Given the description of an element on the screen output the (x, y) to click on. 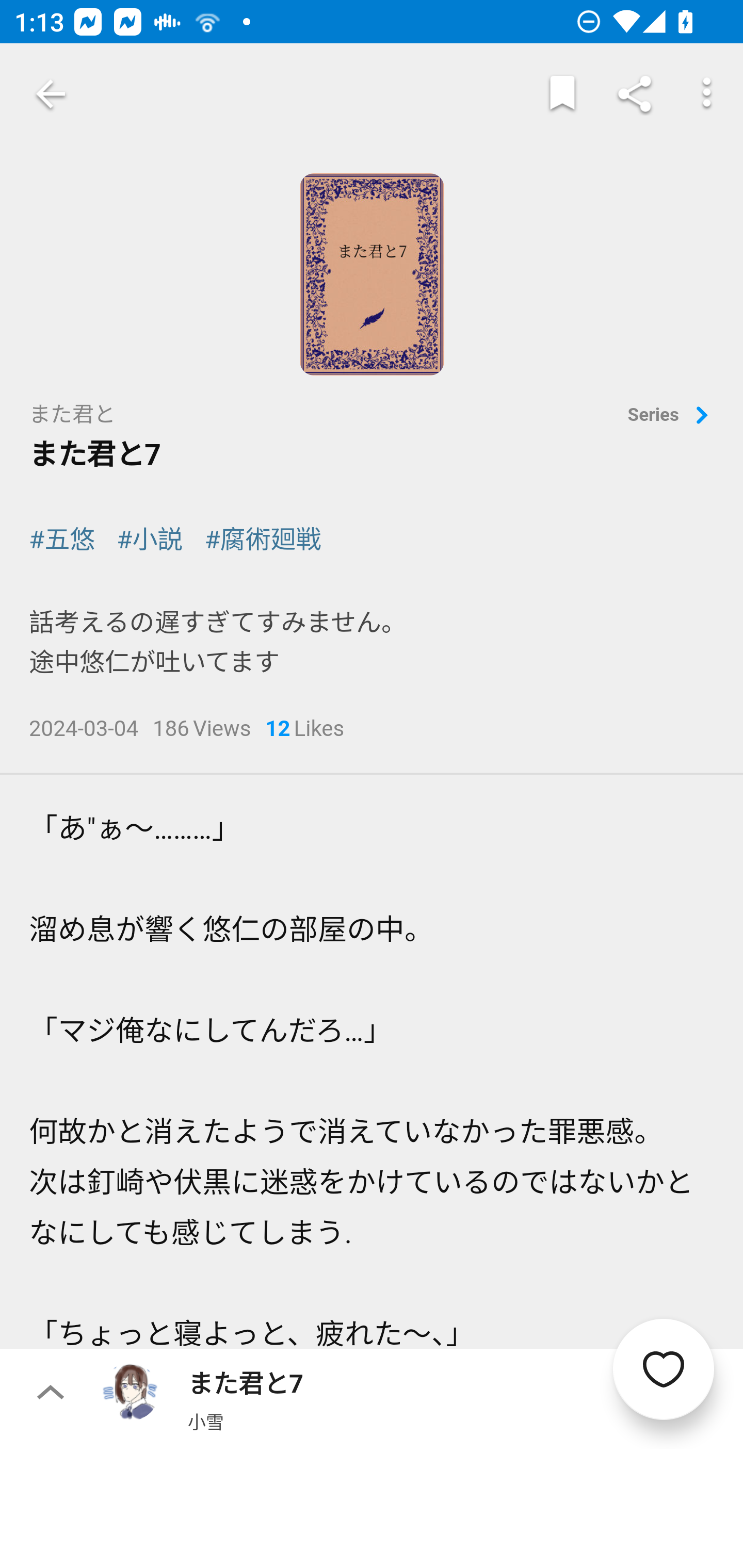
Navigate up (50, 93)
Markers (562, 93)
Share (634, 93)
More options (706, 93)
Series (671, 416)
#五悠 (61, 539)
#小説 (149, 539)
#腐術廻戦 (263, 539)
12Likes (303, 729)
小雪 (205, 1421)
